Given the description of an element on the screen output the (x, y) to click on. 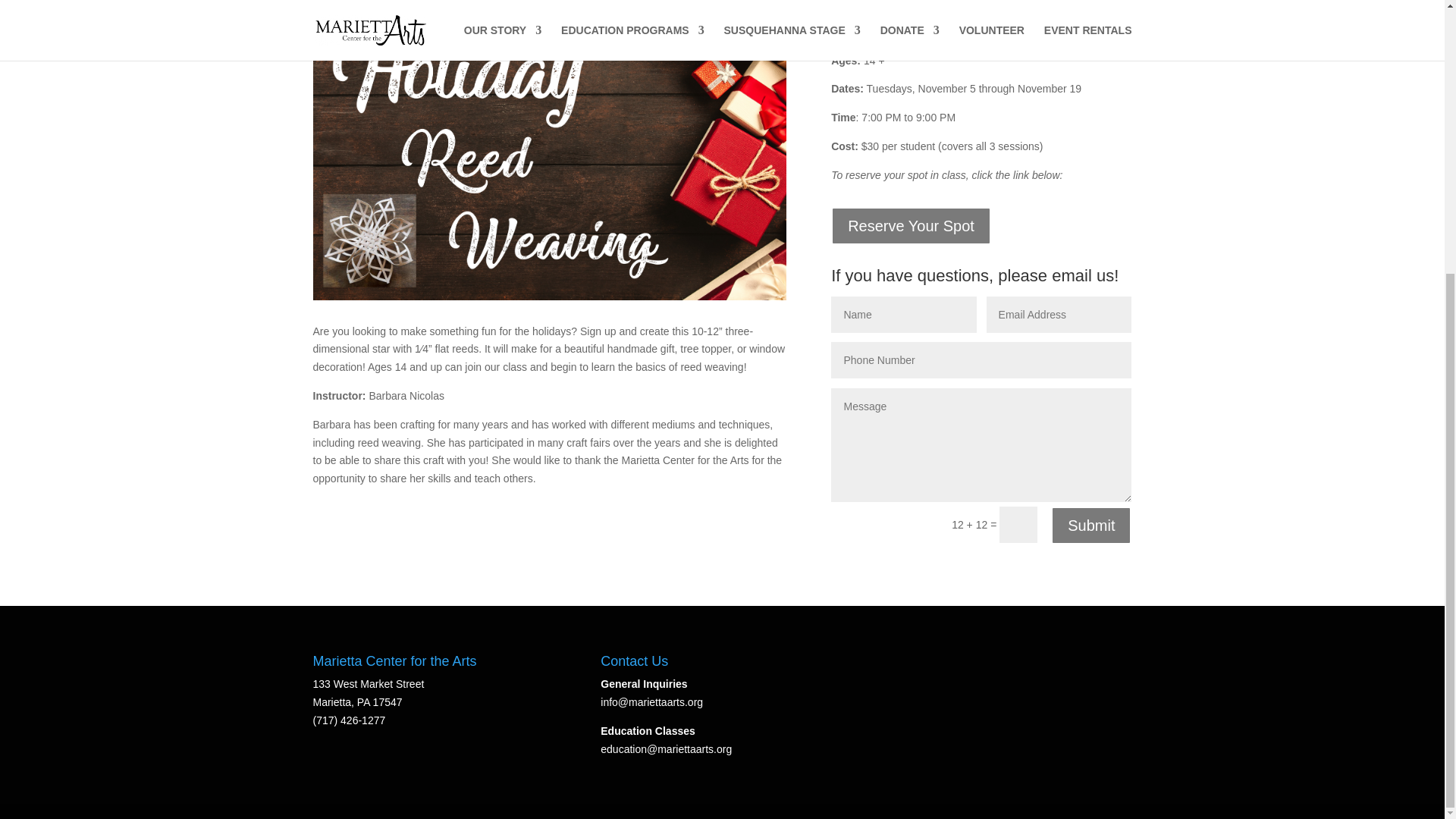
Reserve Your Spot (911, 225)
Submit (1091, 525)
